Given the description of an element on the screen output the (x, y) to click on. 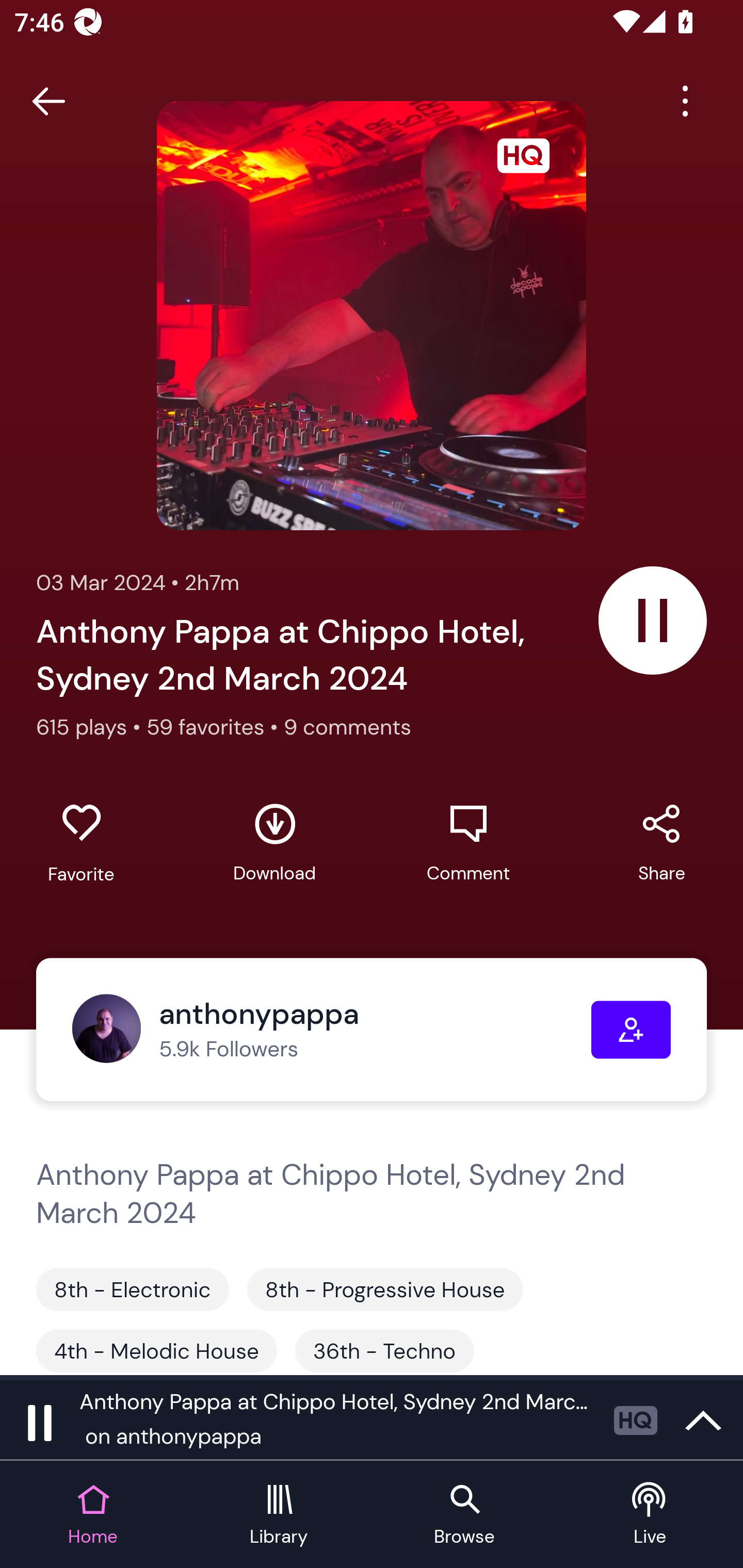
59 favorites •  (214, 726)
9 comments (346, 726)
Favorite (81, 843)
Download (274, 843)
Comment (467, 843)
Share (661, 843)
Follow (630, 1029)
8th - Electronic (132, 1289)
8th - Progressive House (385, 1289)
4th - Melodic House (156, 1350)
36th - Techno (384, 1350)
Home tab Home (92, 1515)
Library tab Library (278, 1515)
Browse tab Browse (464, 1515)
Live tab Live (650, 1515)
